Given the description of an element on the screen output the (x, y) to click on. 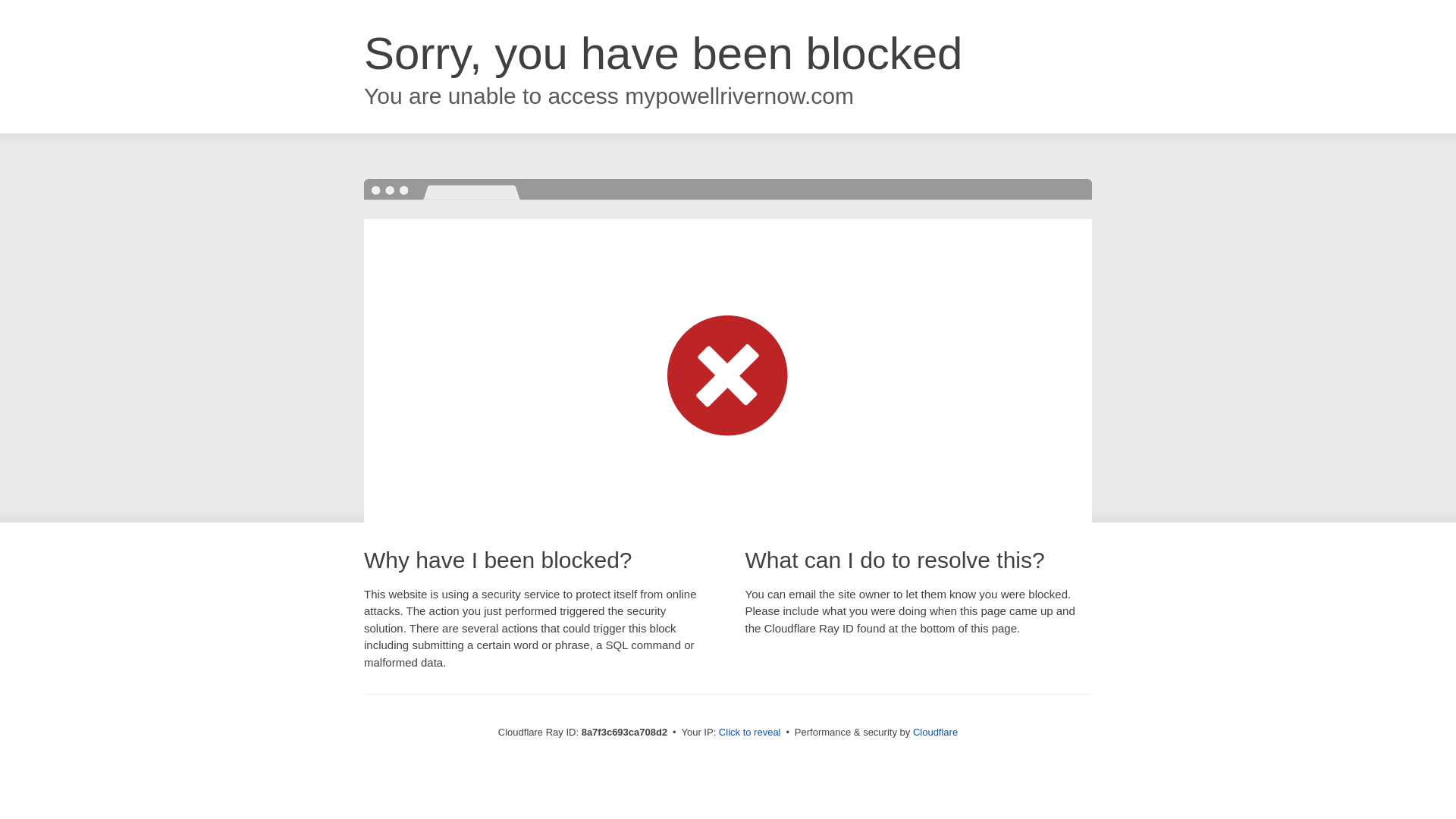
Click to reveal (749, 732)
Cloudflare (935, 731)
